Given the description of an element on the screen output the (x, y) to click on. 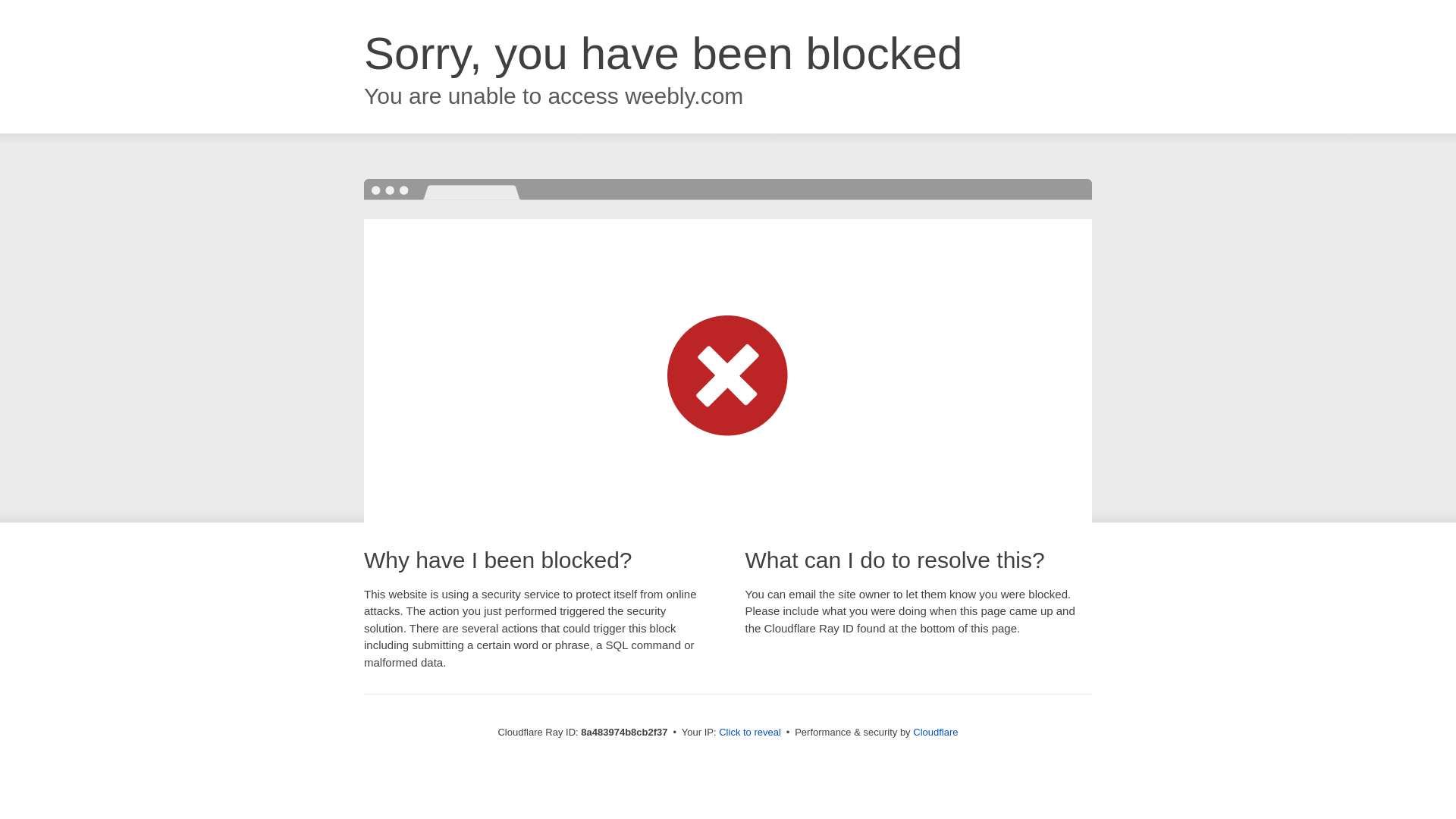
Click to reveal (749, 732)
Cloudflare (935, 731)
